Given the description of an element on the screen output the (x, y) to click on. 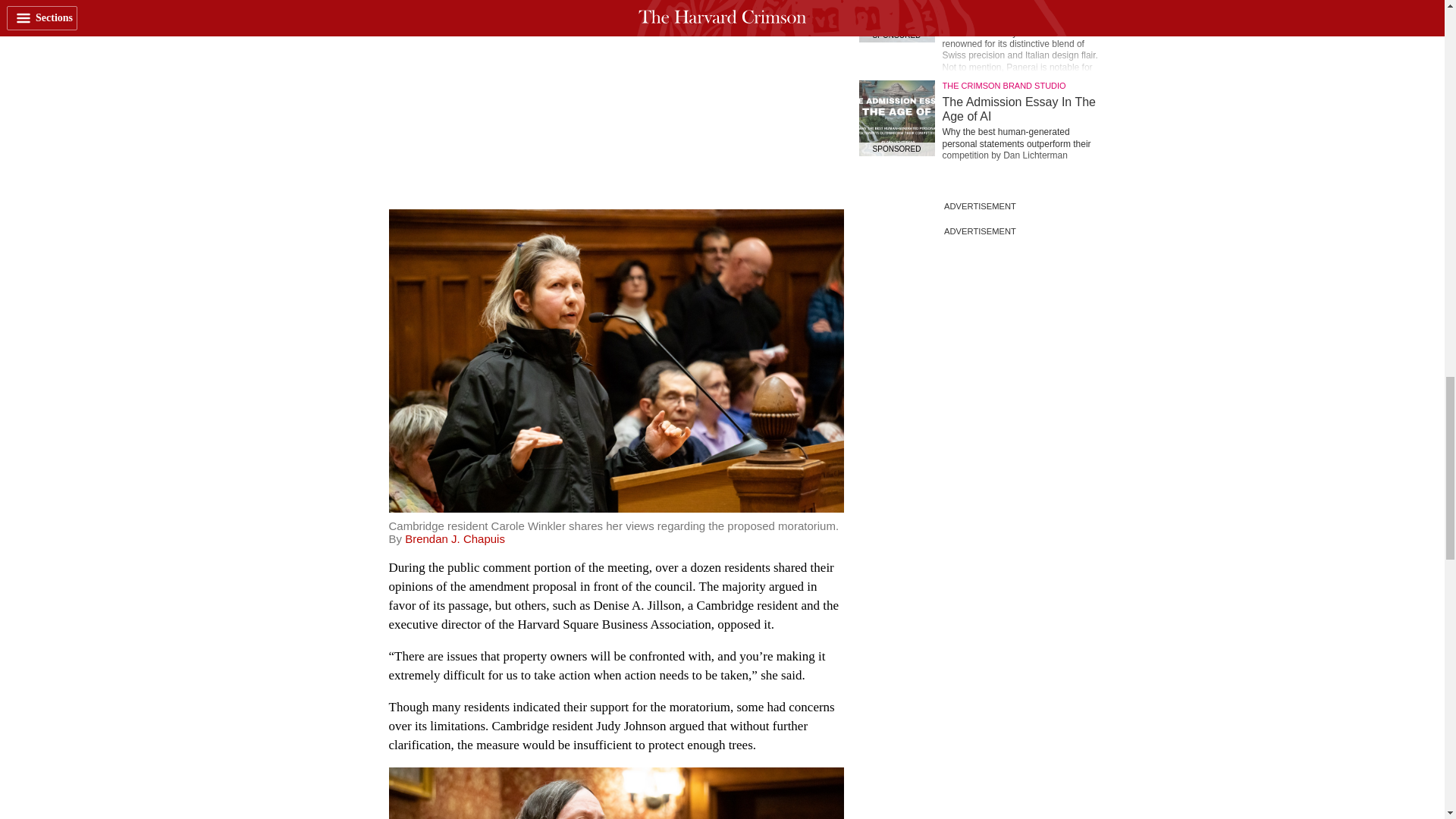
3rd party ad content (615, 94)
Brendan J. Chapuis (454, 538)
